Given the description of an element on the screen output the (x, y) to click on. 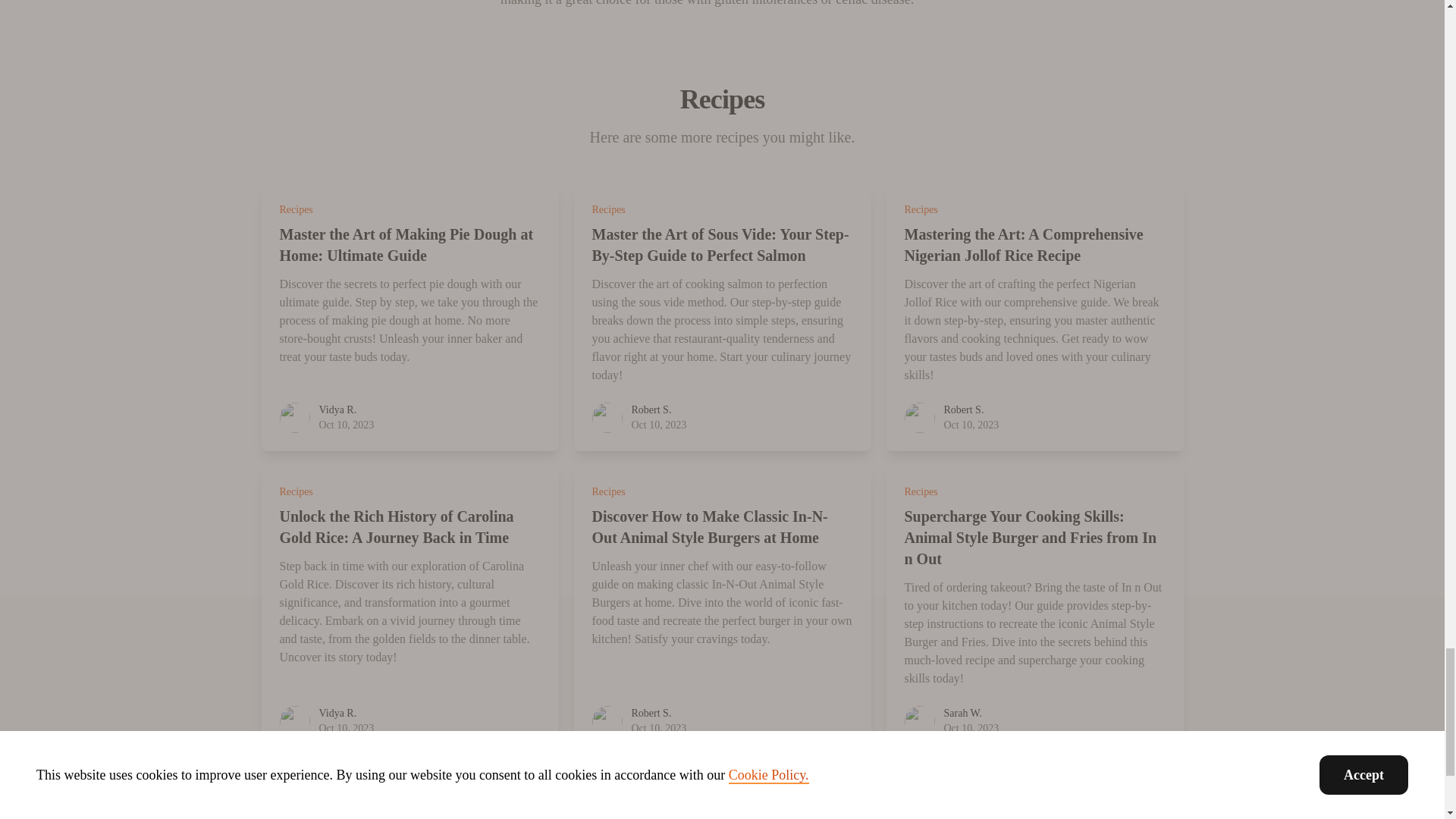
Previous Page (655, 788)
Next Page (788, 788)
